Given the description of an element on the screen output the (x, y) to click on. 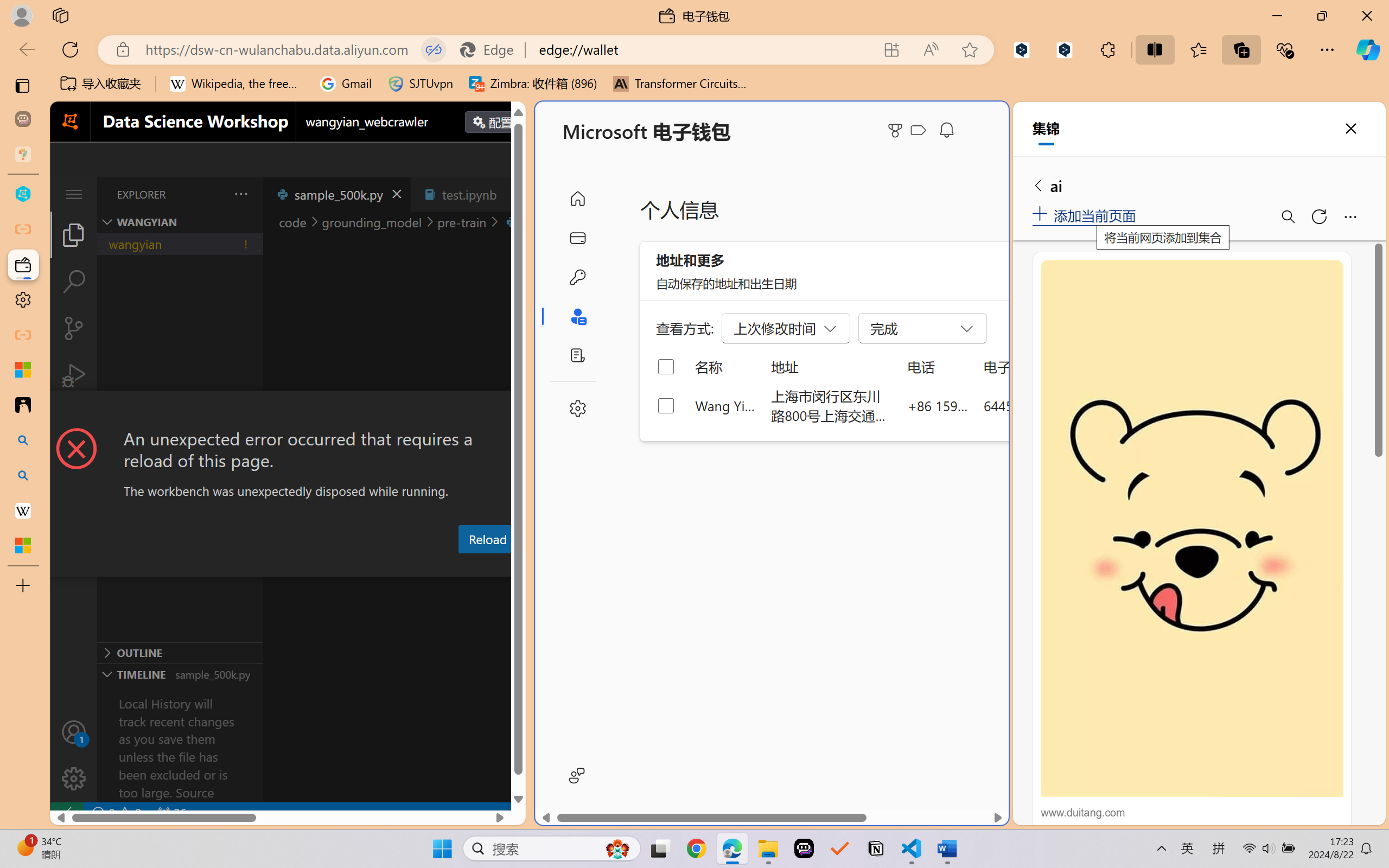
Copilot (Ctrl+Shift+.) (1368, 49)
Microsoft security help and learning (22, 369)
644553698@qq.com (1043, 405)
SJTUvpn (419, 83)
Views and More Actions... (240, 193)
